Given the description of an element on the screen output the (x, y) to click on. 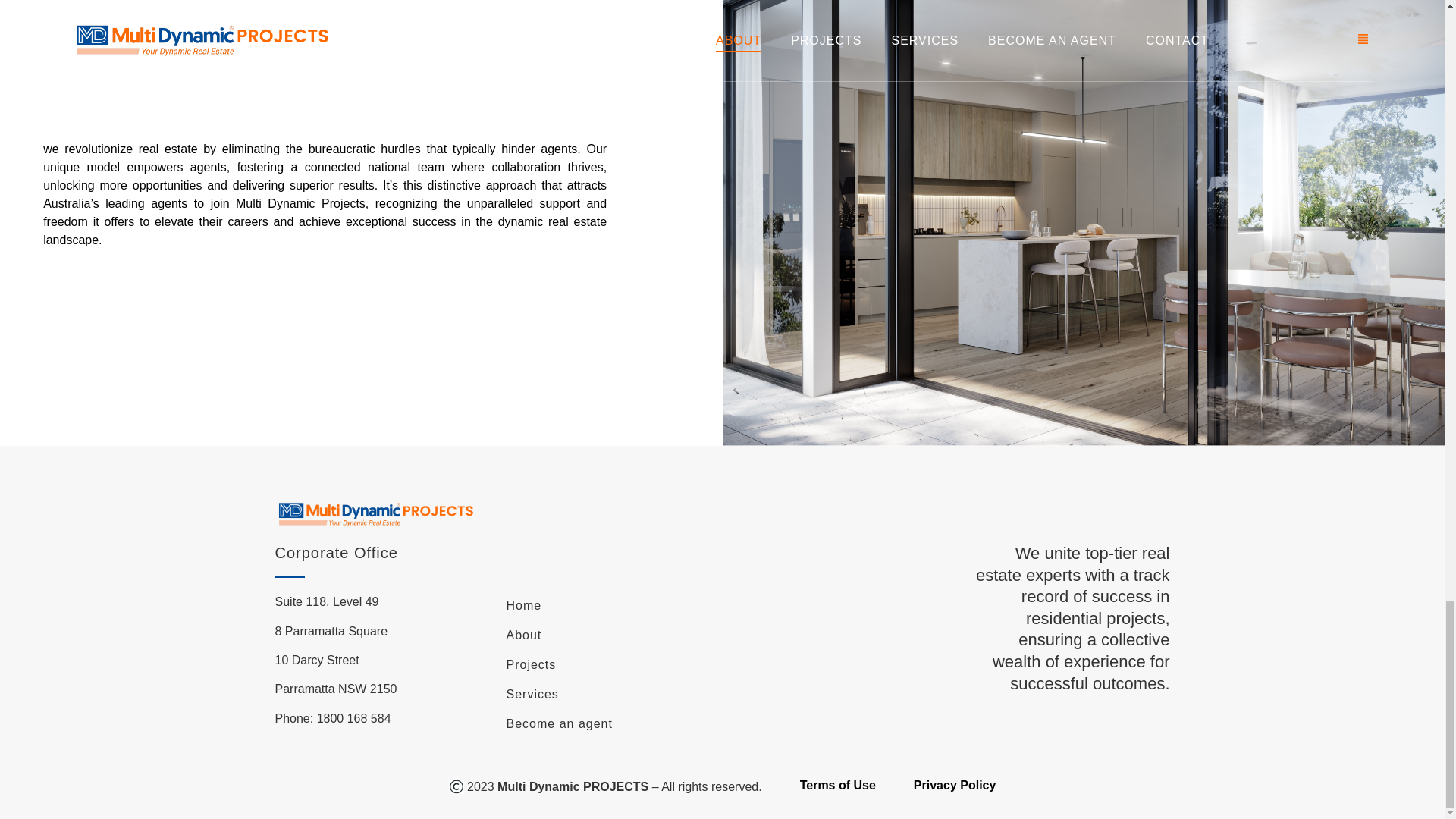
Become an agent (606, 723)
10 Darcy Street (316, 659)
1800 168 584 (354, 717)
Home (606, 606)
Parramatta NSW 2150 (335, 688)
Services (606, 694)
Suite 118, Level 49 (326, 601)
Terms of Use (837, 785)
About (606, 635)
8 Parramatta Square (331, 630)
Projects (606, 665)
